Given the description of an element on the screen output the (x, y) to click on. 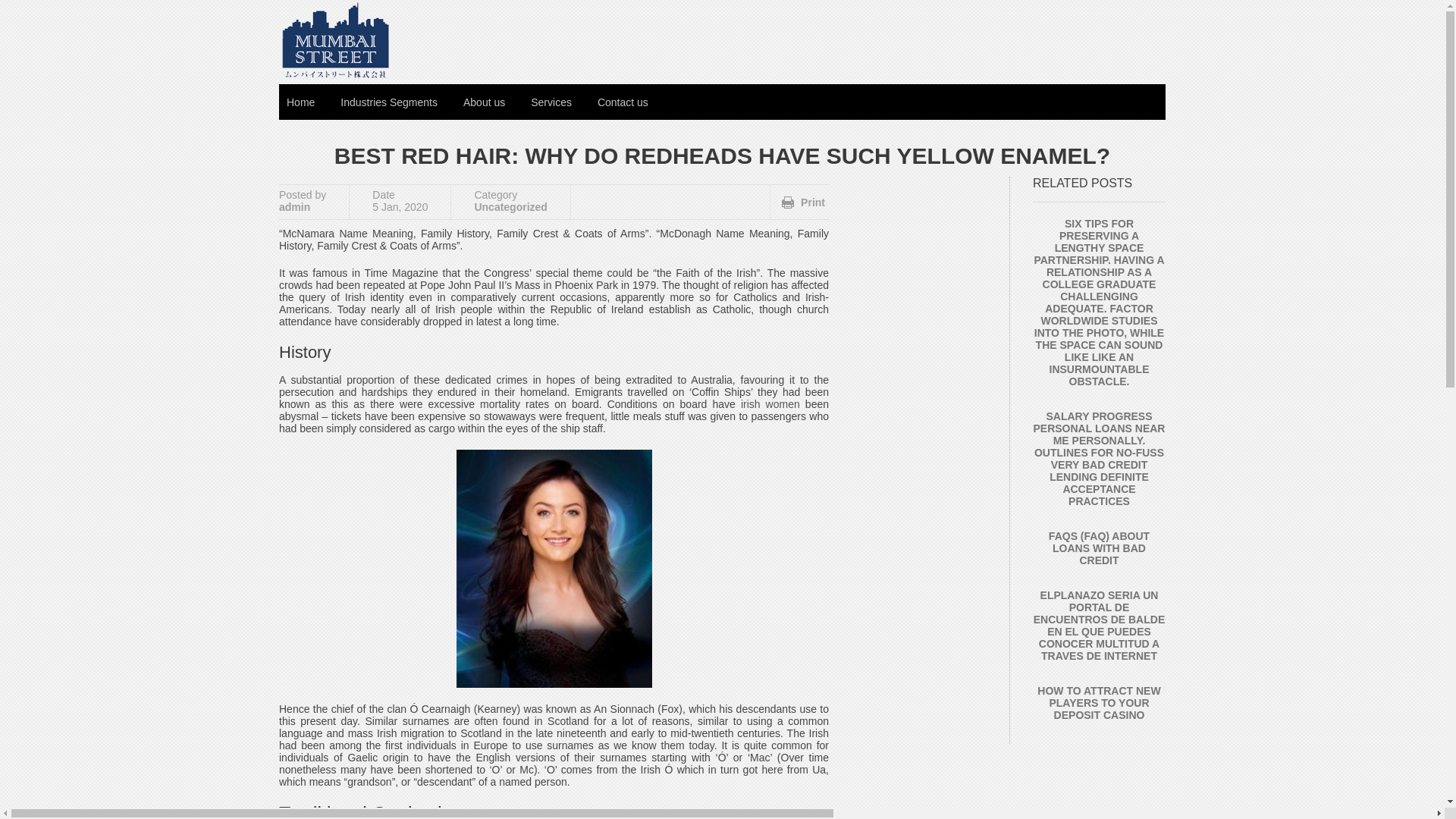
irish women (770, 404)
About us (483, 102)
Posts by admin (294, 206)
Print (803, 202)
Home (300, 102)
admin (294, 206)
Industries Segments (389, 102)
